Given the description of an element on the screen output the (x, y) to click on. 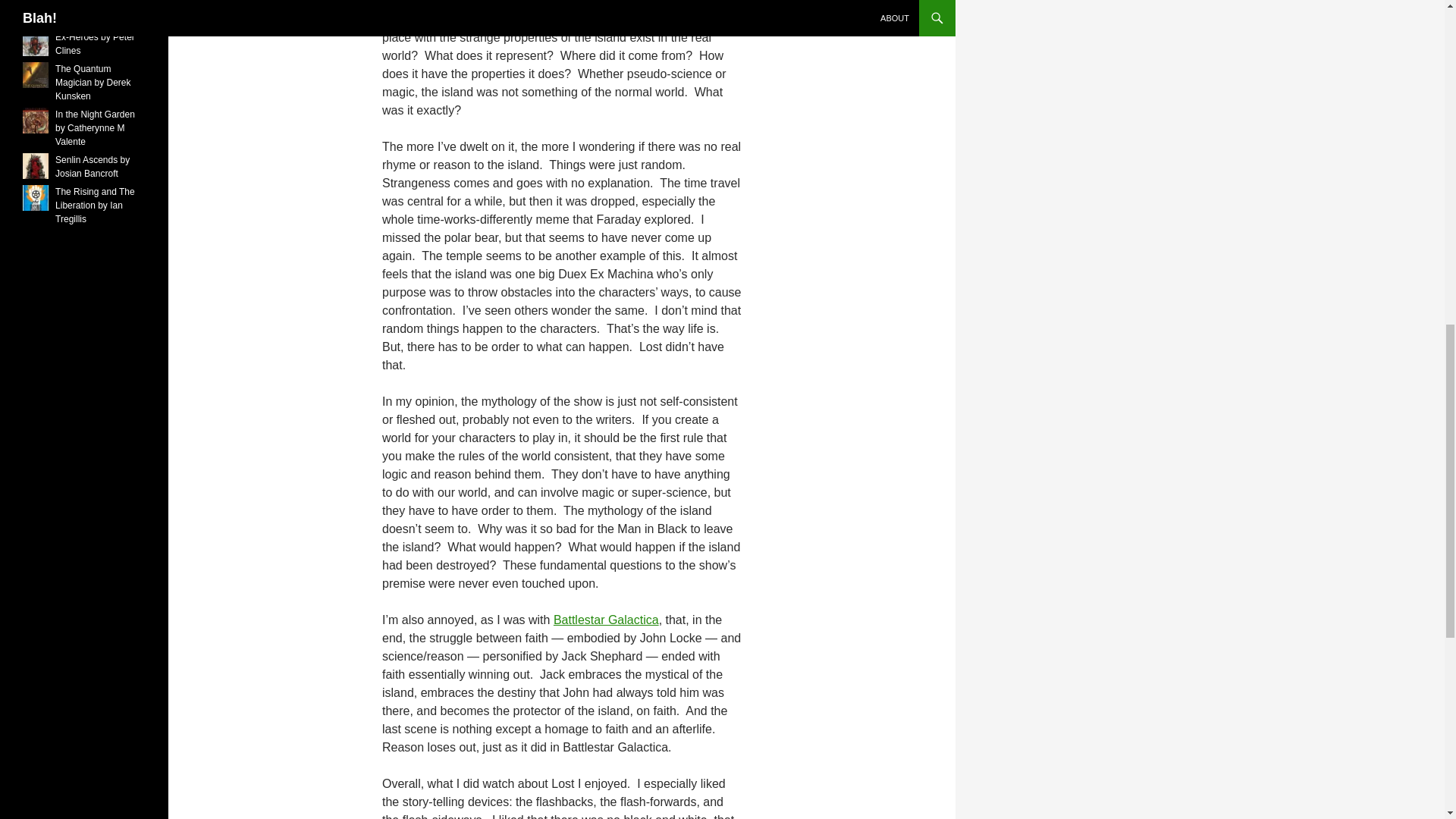
Vicious by V. E. Schwab (86, 12)
Battlestar Galactica (606, 619)
